Given the description of an element on the screen output the (x, y) to click on. 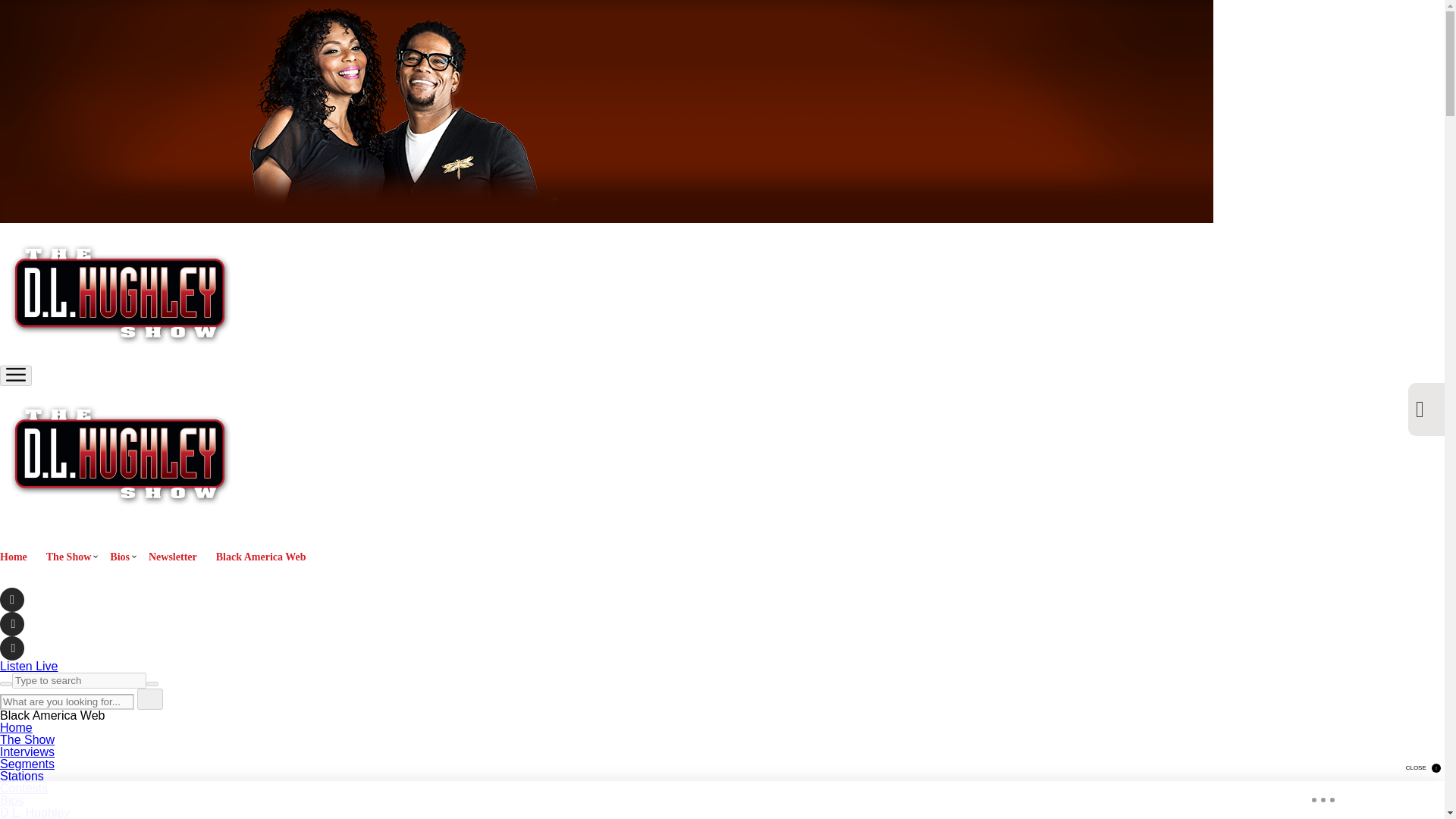
Stations (21, 775)
X (12, 623)
Home (16, 727)
Youtube (12, 648)
Open menu (16, 375)
Segments (27, 763)
Bios (11, 799)
Interviews (27, 751)
The Show (27, 739)
D.L. Hughley (34, 812)
Contests (24, 788)
Open menu (15, 374)
Black America Web (260, 557)
Facebook (12, 599)
